Given the description of an element on the screen output the (x, y) to click on. 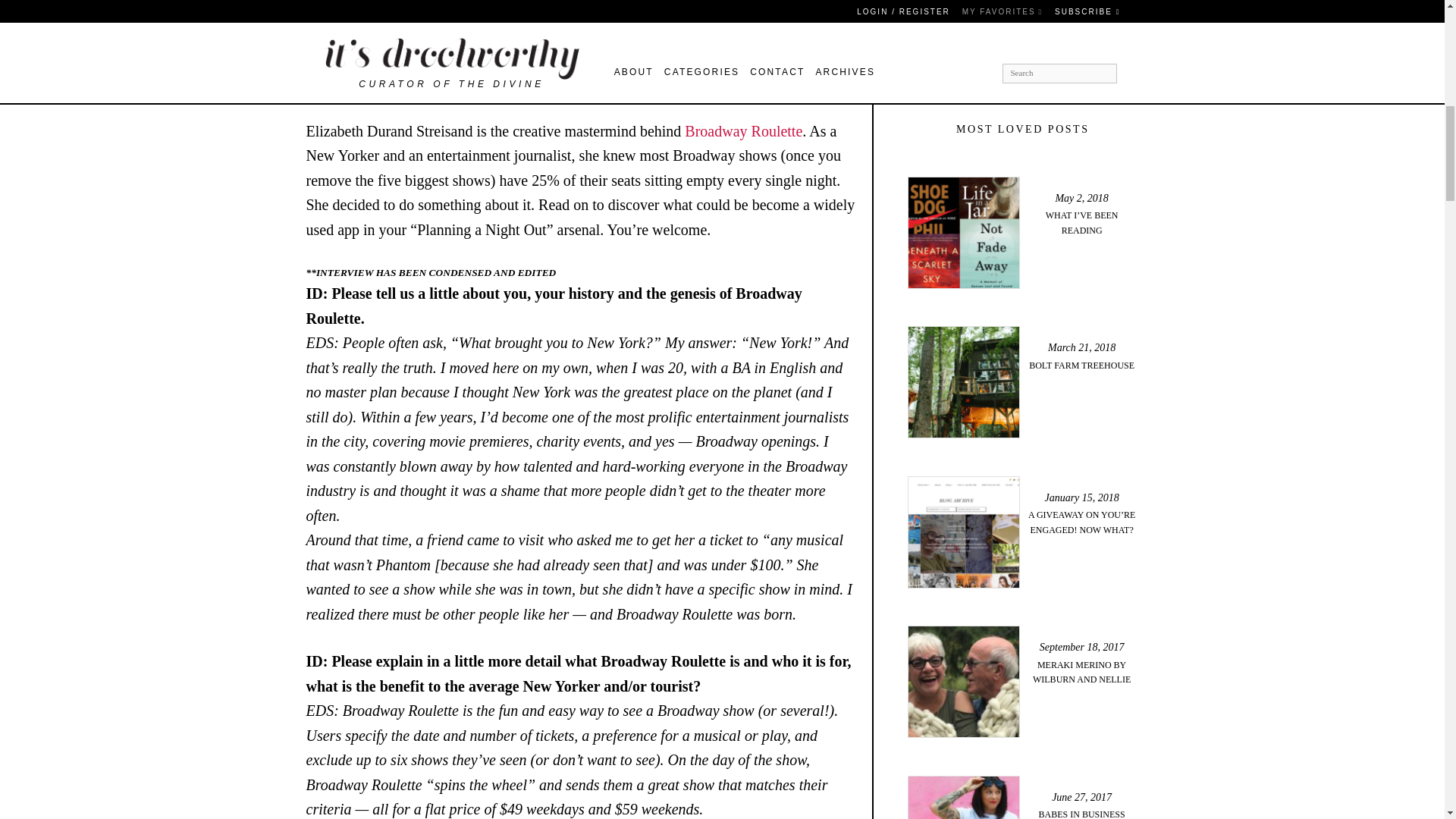
Broadway Roulette (743, 130)
Broadway Roulette (364, 33)
